Given the description of an element on the screen output the (x, y) to click on. 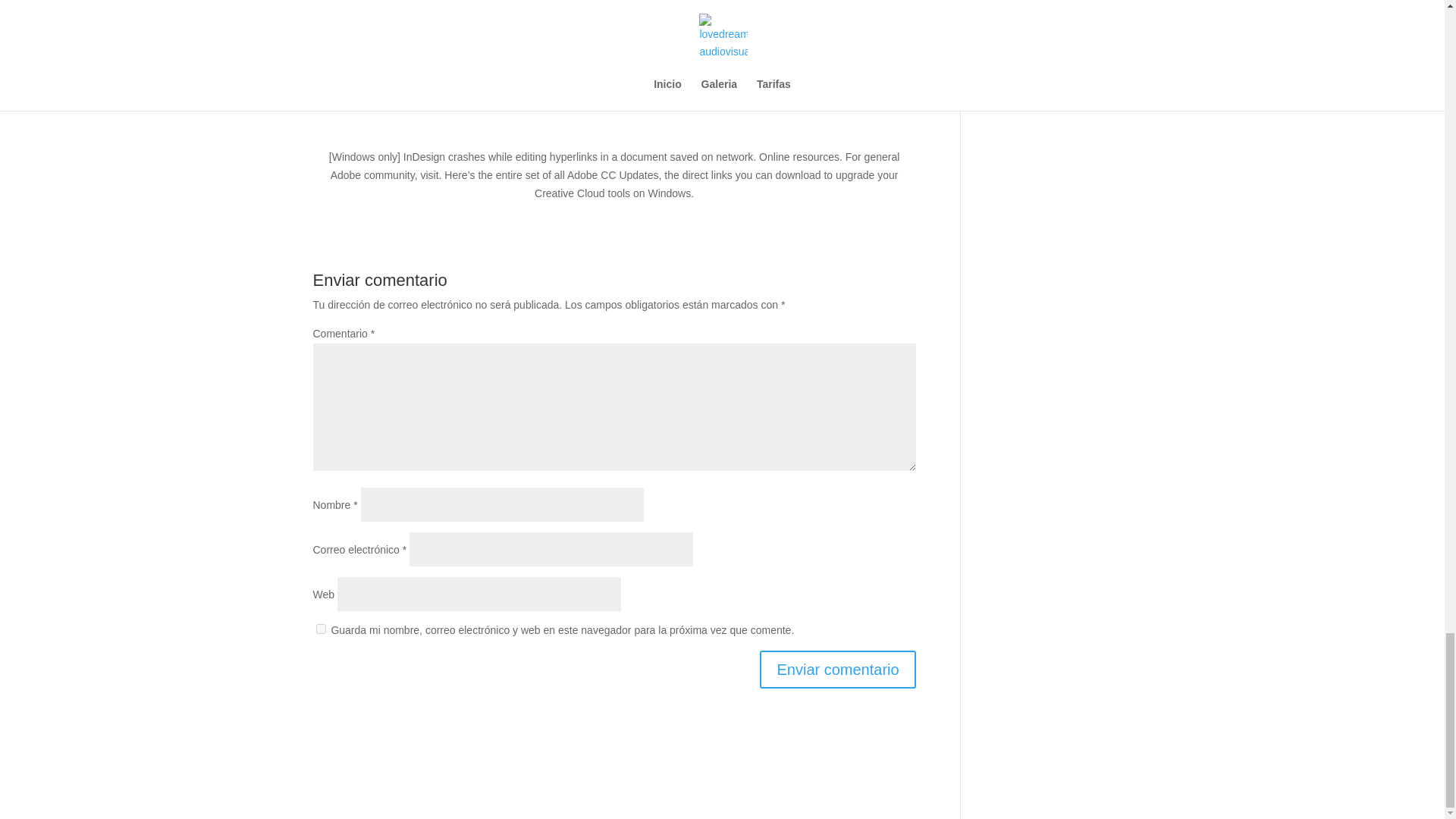
Enviar comentario (837, 669)
Enviar comentario (837, 669)
yes (319, 628)
